Given the description of an element on the screen output the (x, y) to click on. 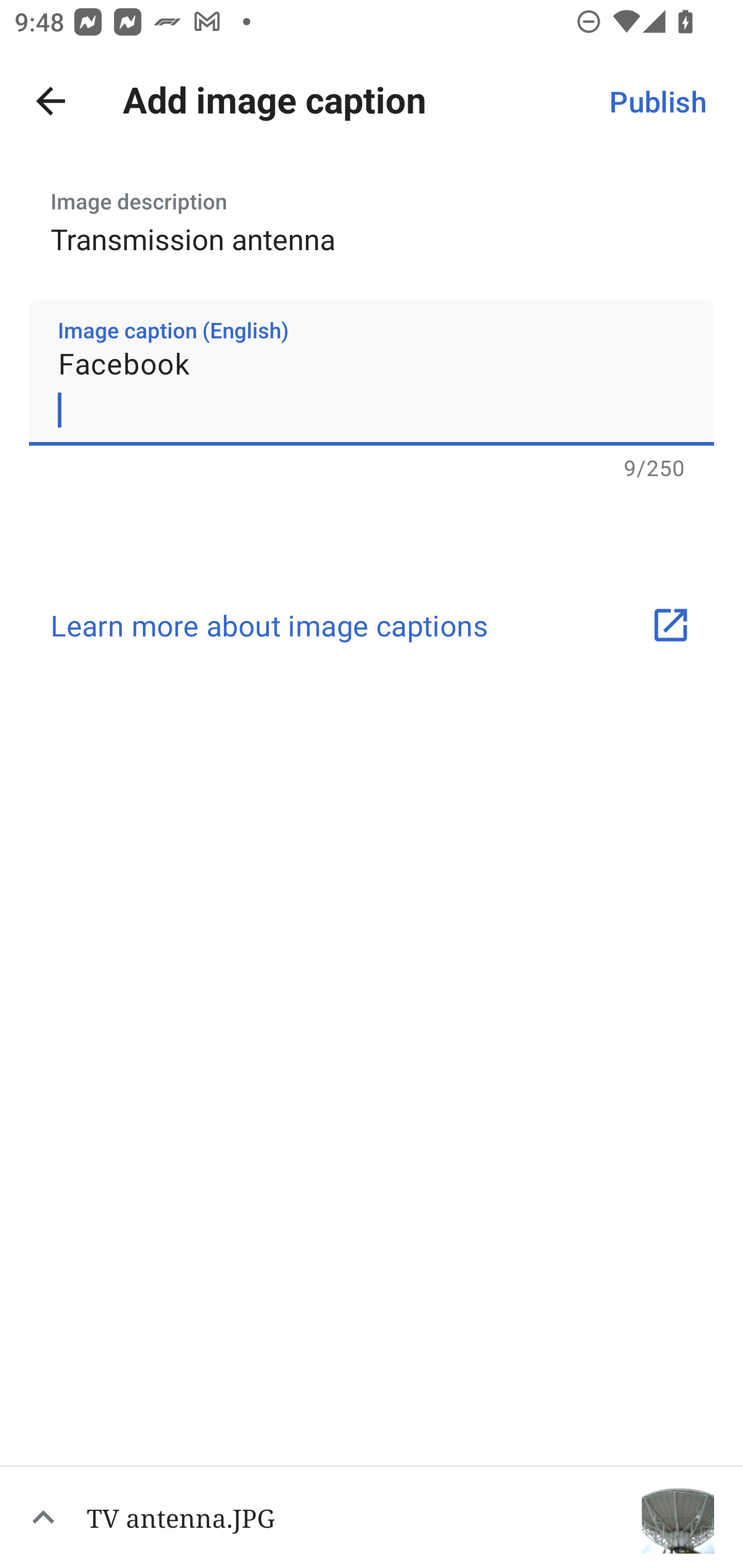
Cancel (50, 101)
Publish (657, 101)
Image description Transmission antenna (371, 215)
Facebook
 (371, 372)
Learn more about image captions (371, 624)
TV antenna.JPG (371, 1516)
